Given the description of an element on the screen output the (x, y) to click on. 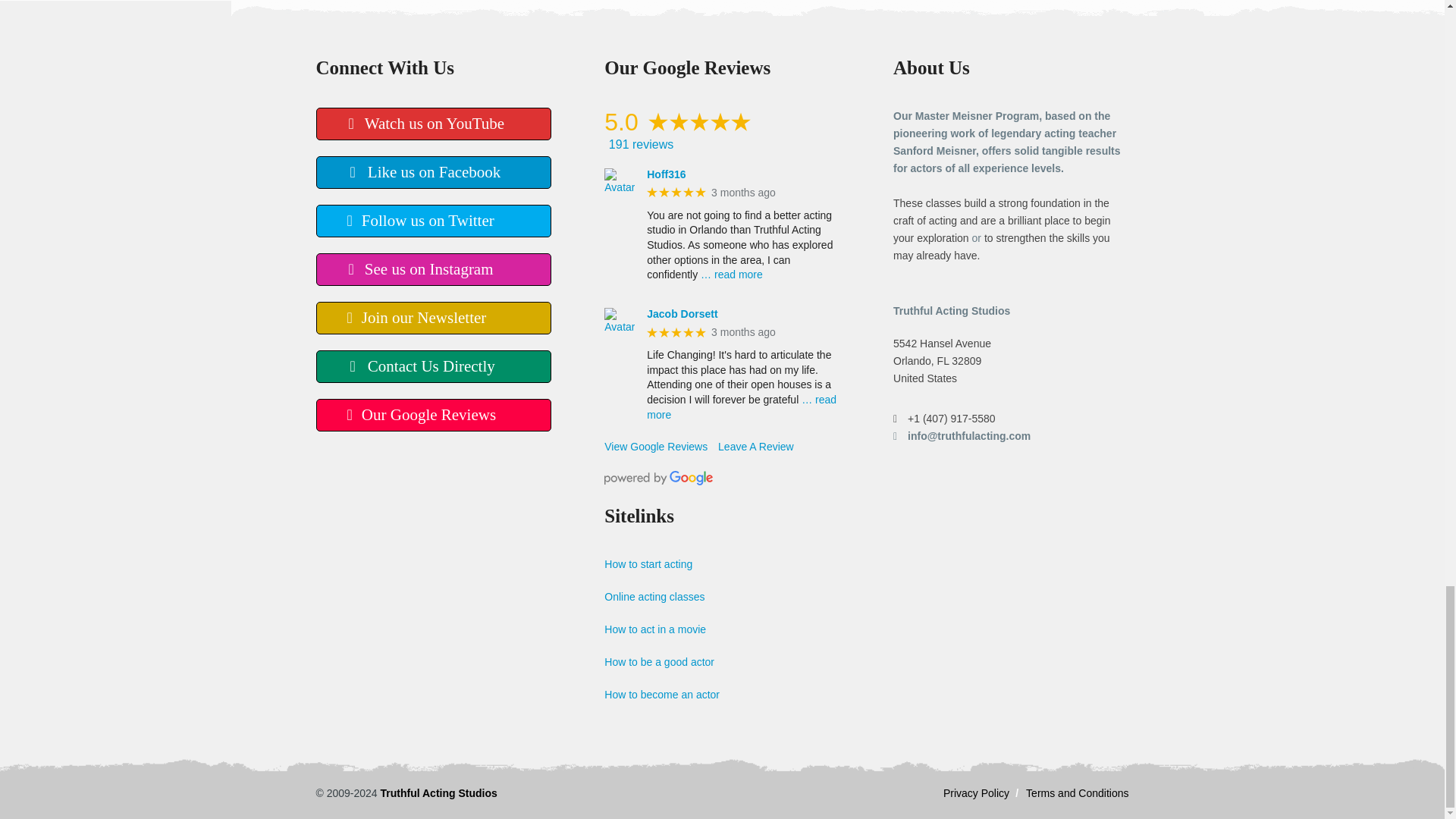
Like us on Facebook (432, 172)
Contact Us Directly (432, 366)
Orlando's Acting Conservatory (438, 793)
Watch us on YouTube (432, 123)
191 reviews (724, 144)
Follow us on Twitter (432, 220)
See us on Instagram (432, 269)
Powered by Google (658, 477)
Our Google Reviews (432, 414)
Join our Newsletter (432, 318)
